Given the description of an element on the screen output the (x, y) to click on. 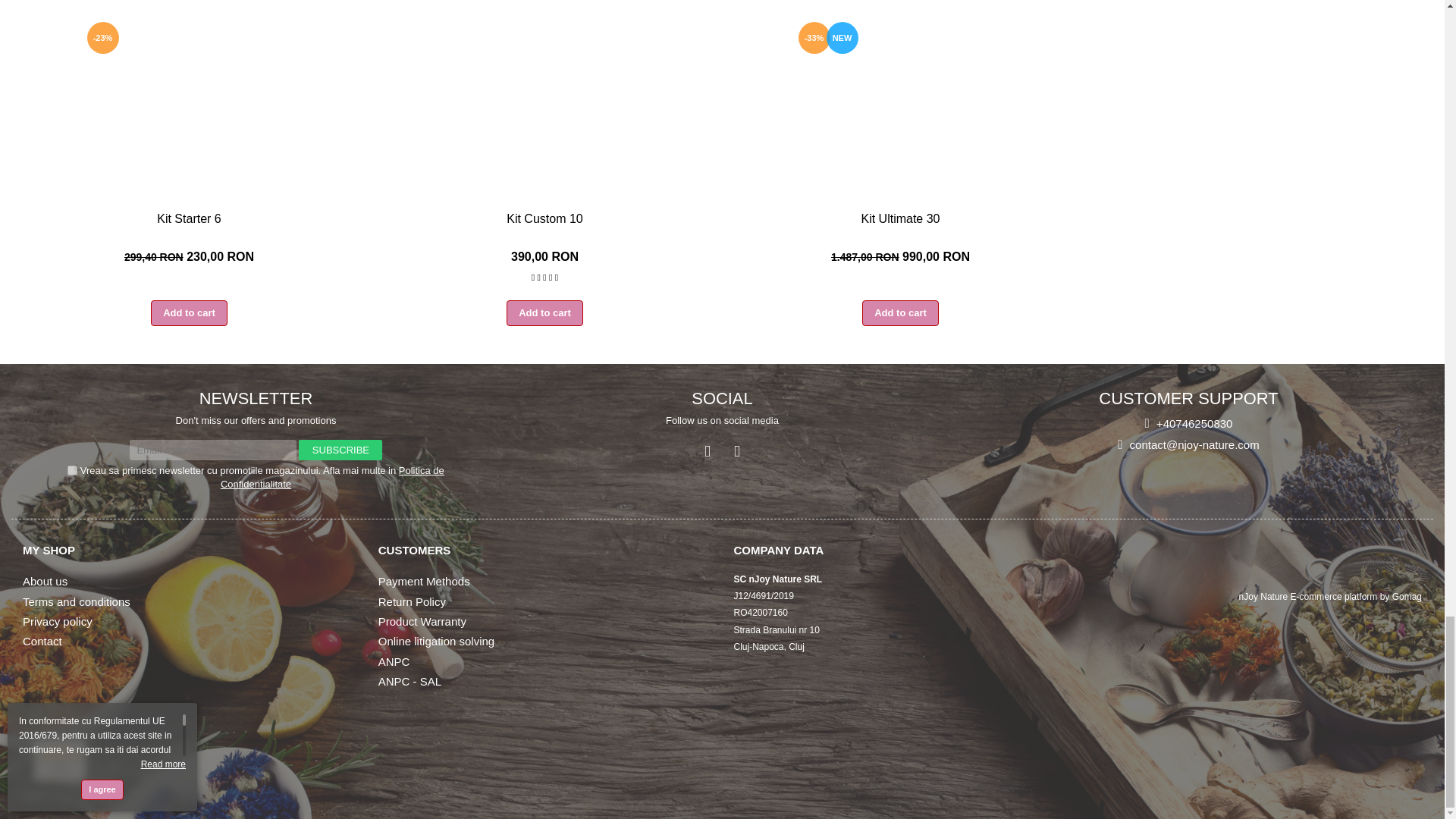
Subscribe (339, 449)
a4861fe18932a7744a066f3af2516c66 (71, 470)
